Given the description of an element on the screen output the (x, y) to click on. 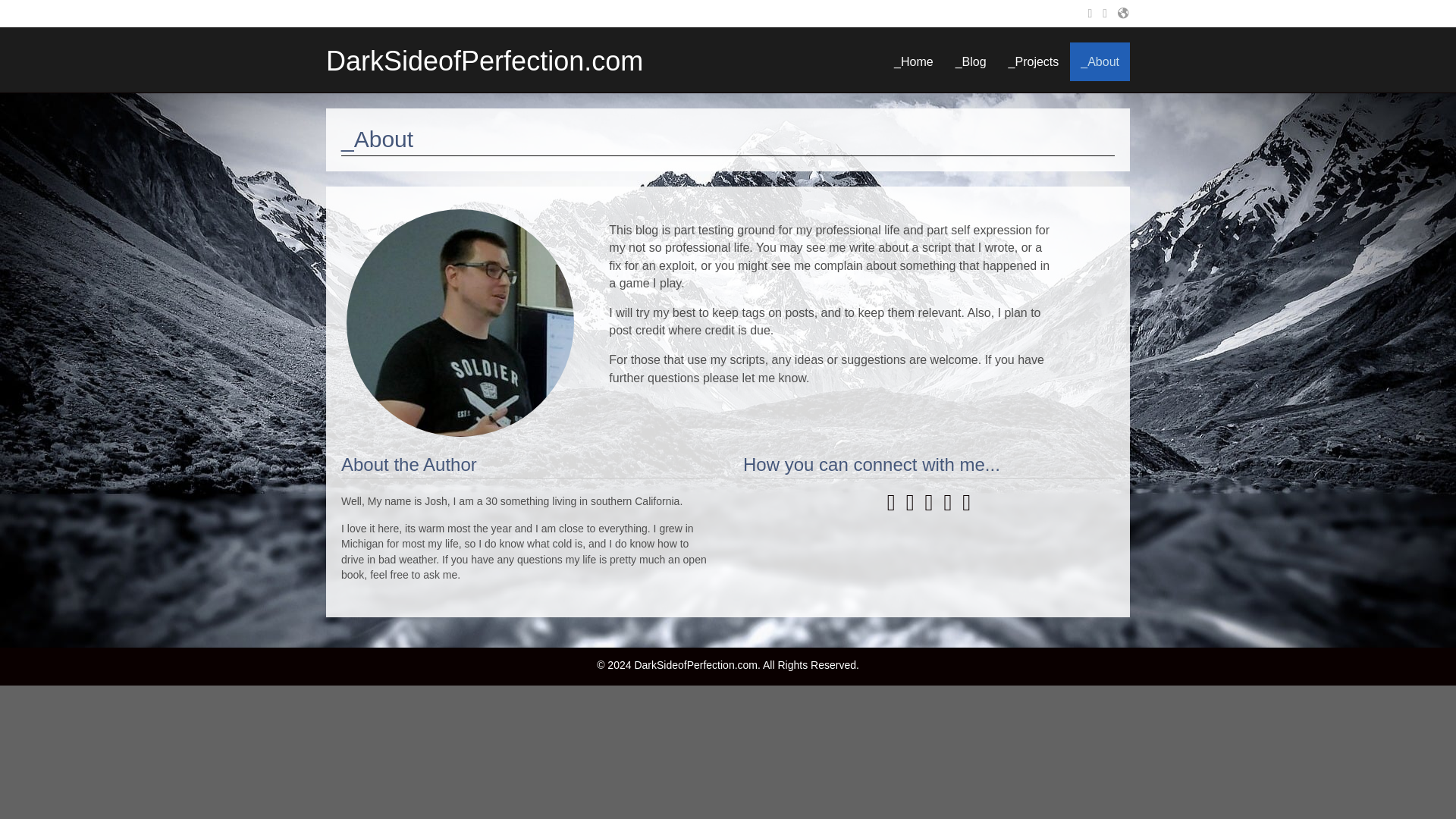
DarkSideofPerfection.com (484, 60)
DarkSideofPerfection.com (484, 60)
